Given the description of an element on the screen output the (x, y) to click on. 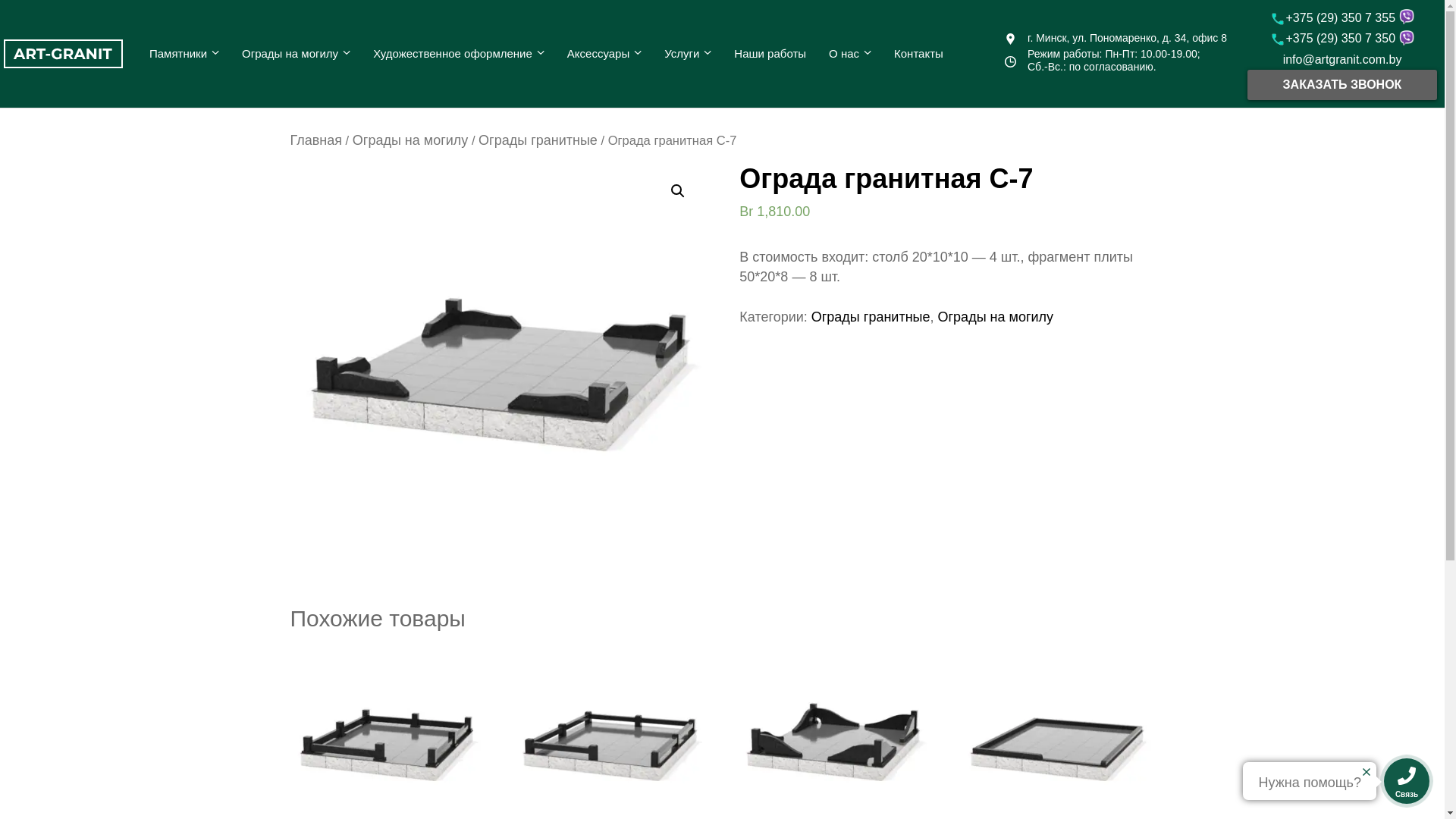
11 Element type: hover (496, 370)
+375 (29) 350 7 350 Element type: text (1334, 37)
+375 (29) 350 7 355 Element type: text (1334, 17)
info@artgranit.com.by Element type: text (1342, 59)
